Given the description of an element on the screen output the (x, y) to click on. 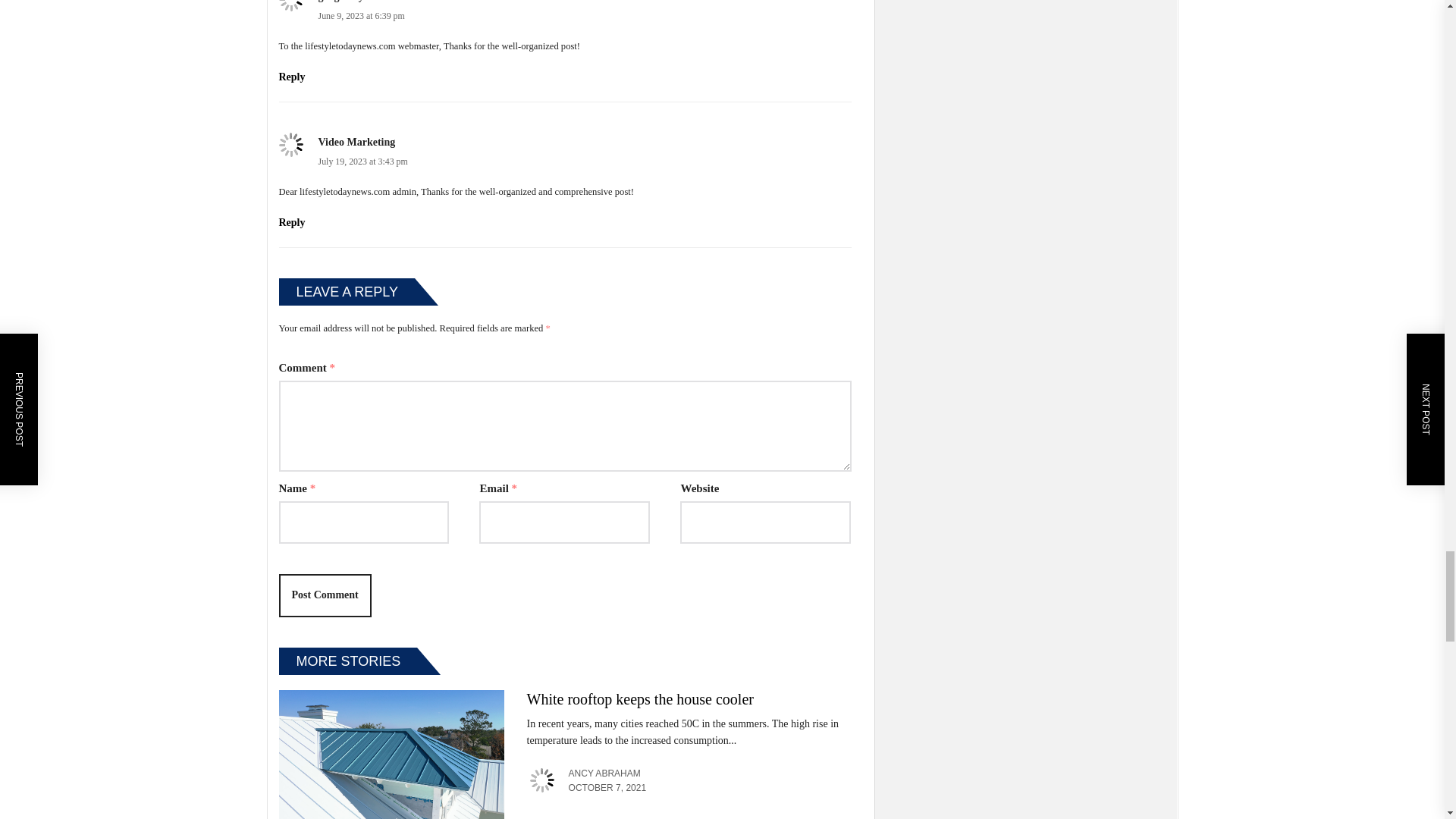
Post Comment (325, 595)
